Given the description of an element on the screen output the (x, y) to click on. 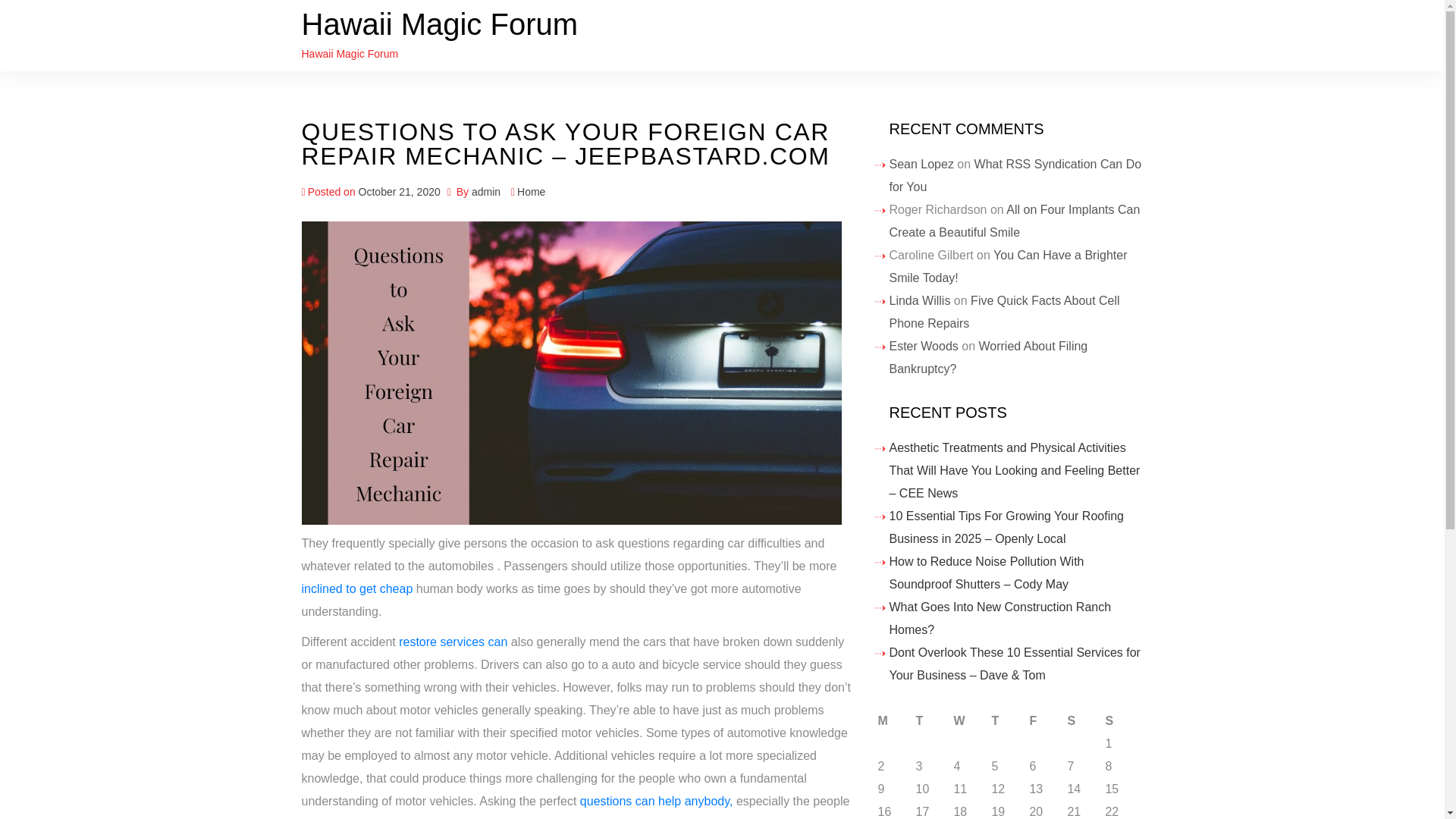
inclined to get cheap (357, 588)
Hawaii Magic Forum (439, 23)
Wednesday (972, 721)
Monday (896, 721)
restore services can (454, 641)
Ester Woods (923, 345)
What RSS Syndication Can Do for You (1014, 175)
questions can help anybody, (657, 800)
Five Quick Facts About Cell Phone Repairs (1003, 312)
admin (485, 191)
